Given the description of an element on the screen output the (x, y) to click on. 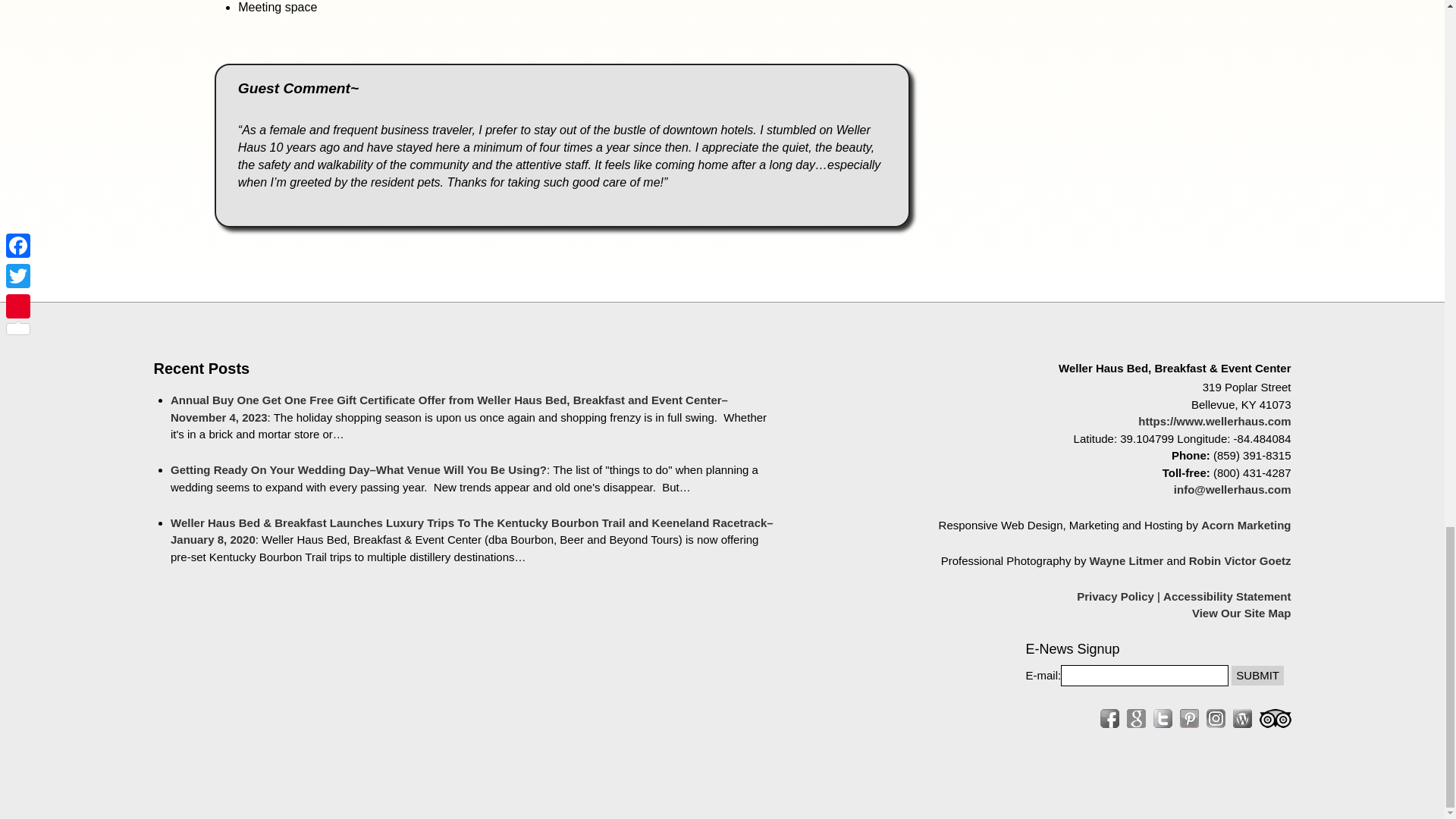
SUBMIT (1257, 675)
Read our Blog (1242, 718)
Read our Reviews (1135, 718)
Like us on Facebook (1108, 718)
Read Reviews (1274, 718)
Follow us on Twitter (1162, 718)
View us on Instagram (1214, 718)
Pin us on Pinterest (1188, 718)
